Given the description of an element on the screen output the (x, y) to click on. 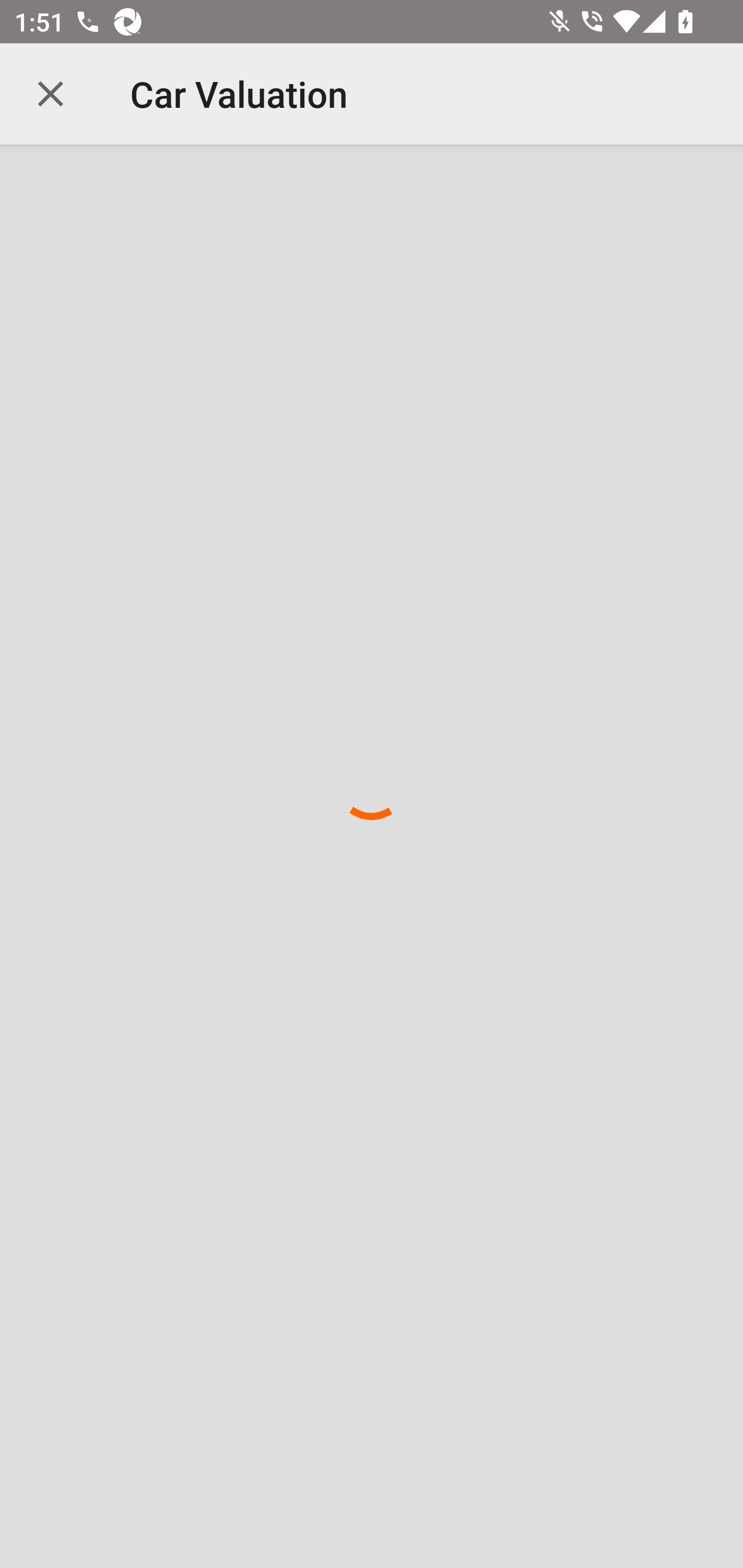
Navigate up (50, 93)
